Given the description of an element on the screen output the (x, y) to click on. 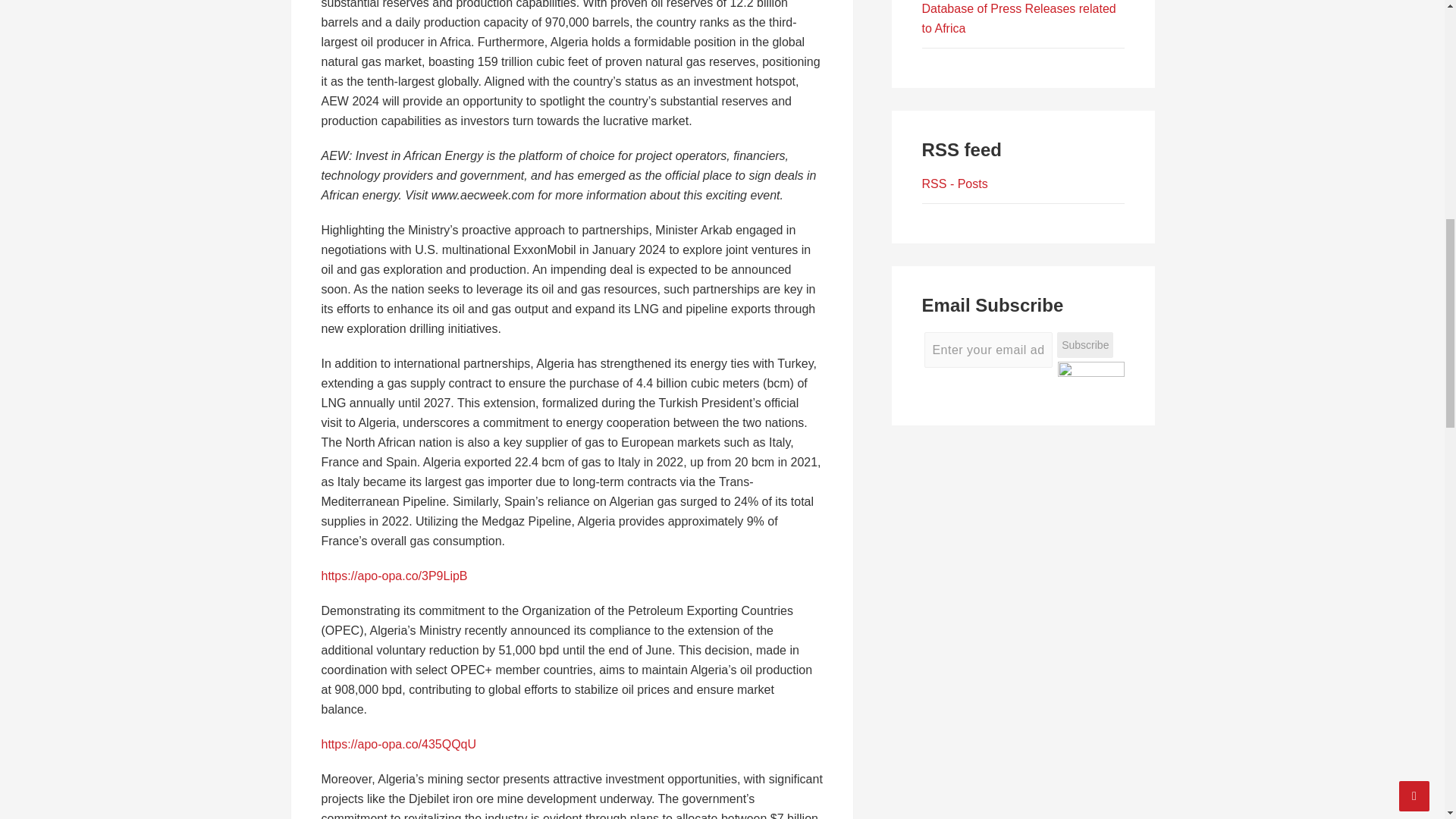
Subscribe to posts (954, 183)
Subscribe (1085, 345)
APO-Source (1018, 18)
